Given the description of an element on the screen output the (x, y) to click on. 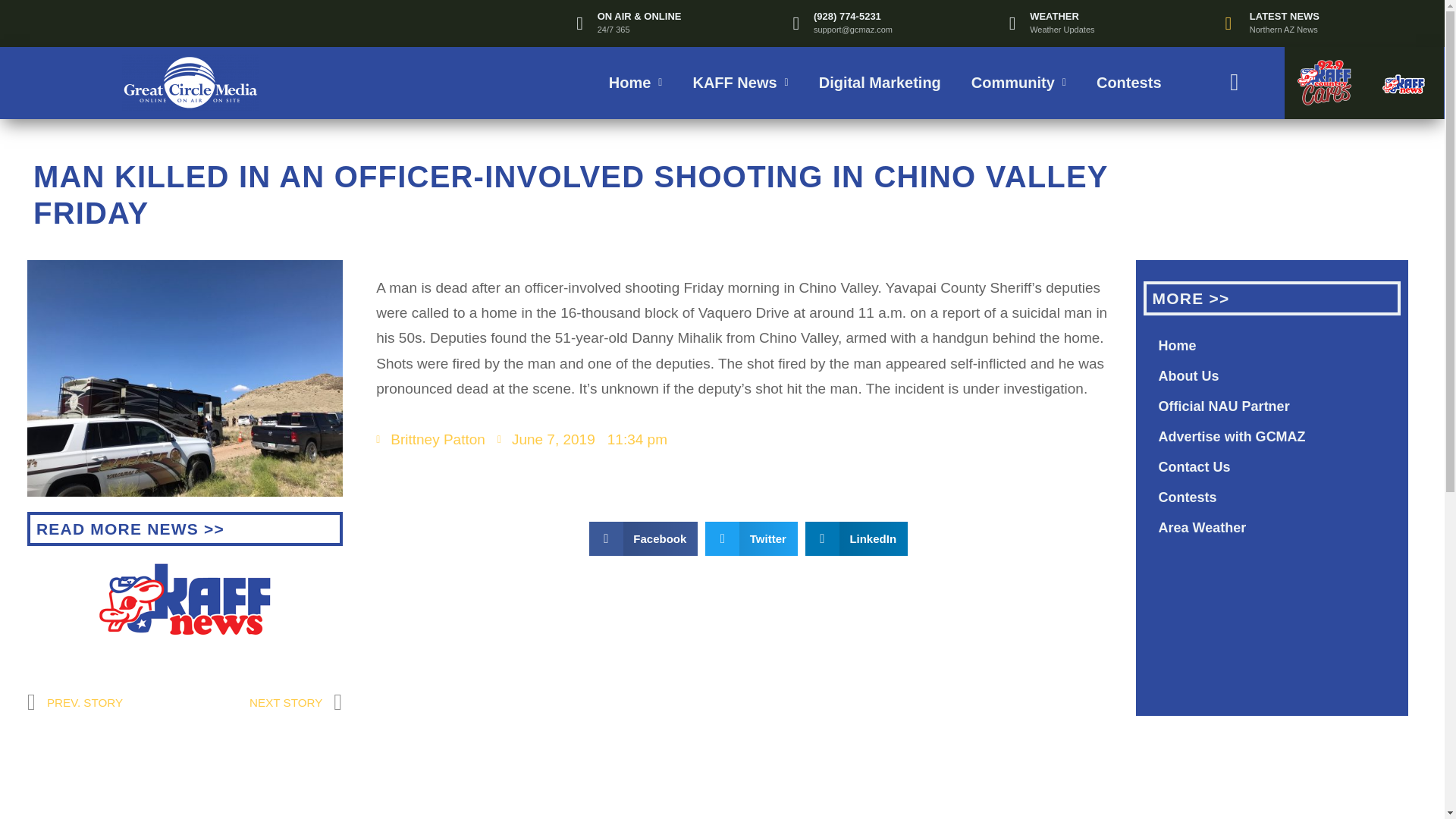
Home (636, 82)
OIS scene (184, 378)
KAFF News (740, 82)
Digital Marketing (879, 82)
KAFF News (185, 599)
Community (1018, 82)
WEATHER (1053, 16)
LATEST NEWS (1284, 16)
Contests (1128, 82)
